Given the description of an element on the screen output the (x, y) to click on. 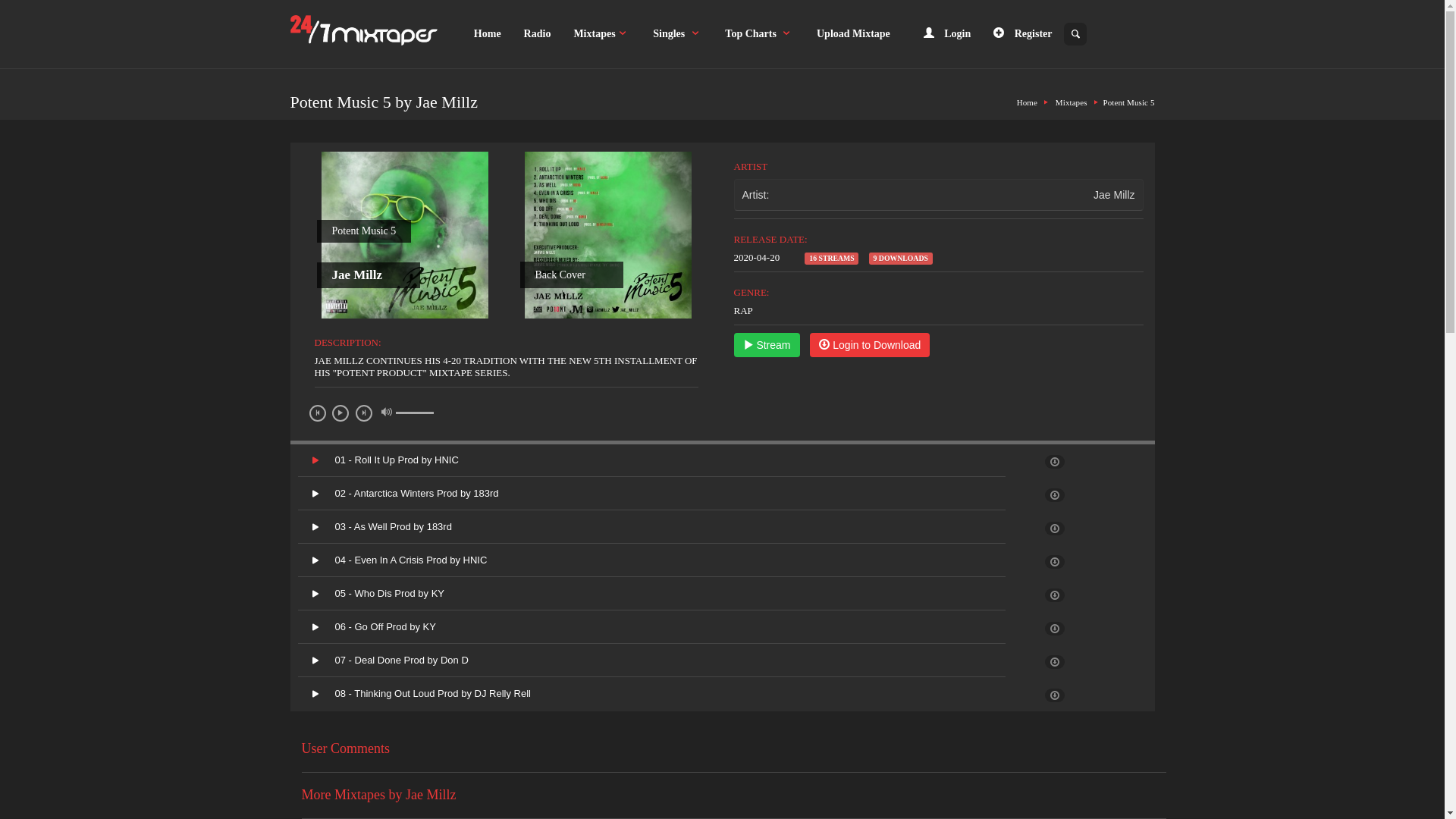
Potent Music 5 Element type: text (1128, 101)
Login to Download Element type: text (869, 344)
Home Element type: text (487, 34)
Mixtapes Element type: text (1071, 101)
Stream Element type: text (767, 344)
Singles Element type: text (677, 34)
Upload Mixtape Element type: text (853, 34)
Register Element type: text (1022, 34)
Mixtapes Element type: text (601, 34)
Home Element type: text (1026, 101)
Login Element type: text (947, 34)
Jae Millz Element type: text (1113, 194)
Top Charts Element type: text (759, 34)
RAP Element type: text (743, 310)
Radio Element type: text (537, 34)
